Given the description of an element on the screen output the (x, y) to click on. 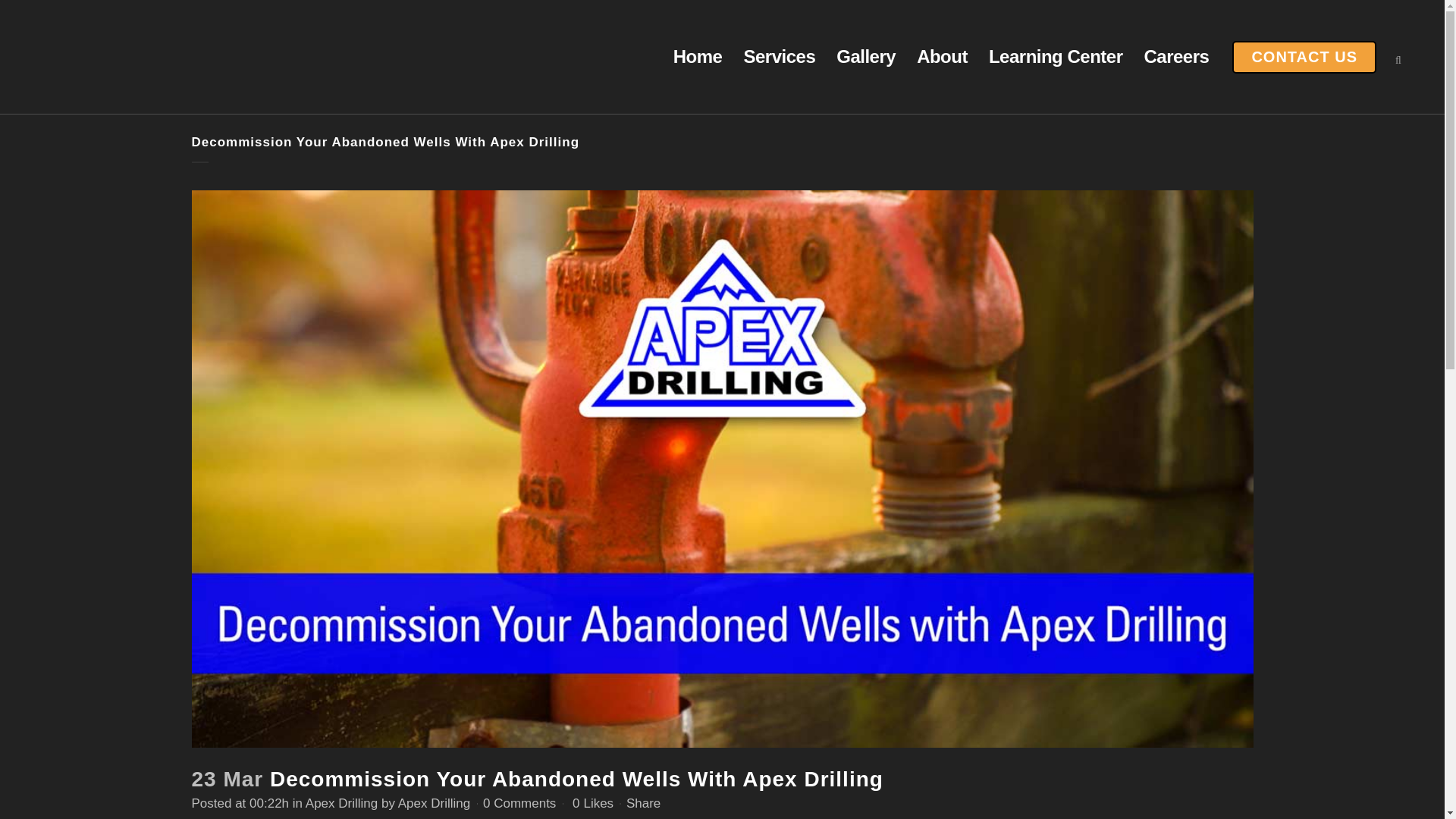
Apex Drilling (341, 803)
Like this (592, 803)
0 Comments (519, 803)
CONTACT US (1303, 56)
0 Likes (592, 803)
Apex Drilling (433, 803)
Learning Center (1056, 56)
Share (643, 803)
